Given the description of an element on the screen output the (x, y) to click on. 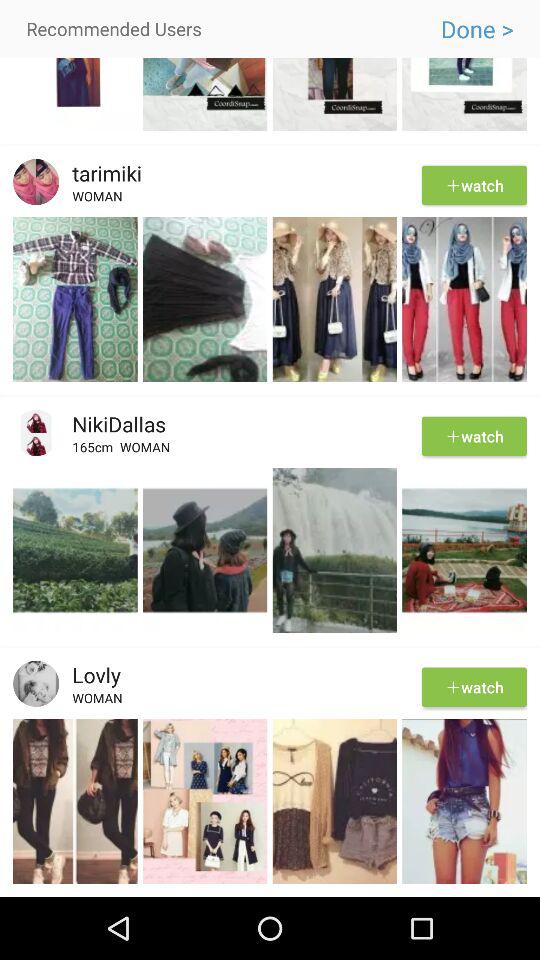
click lovly app (90, 674)
